Given the description of an element on the screen output the (x, y) to click on. 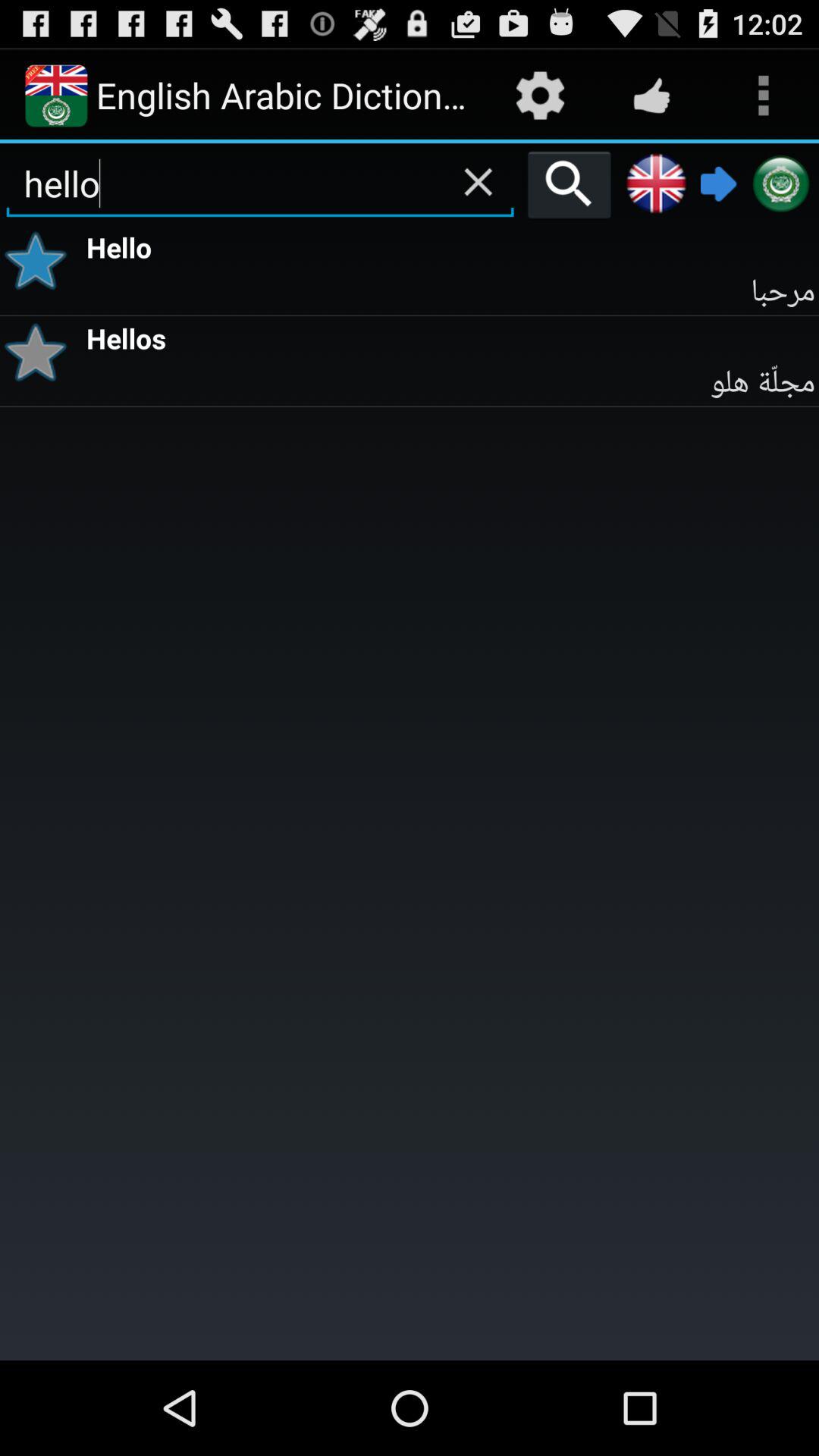
tap hellos item (451, 337)
